Given the description of an element on the screen output the (x, y) to click on. 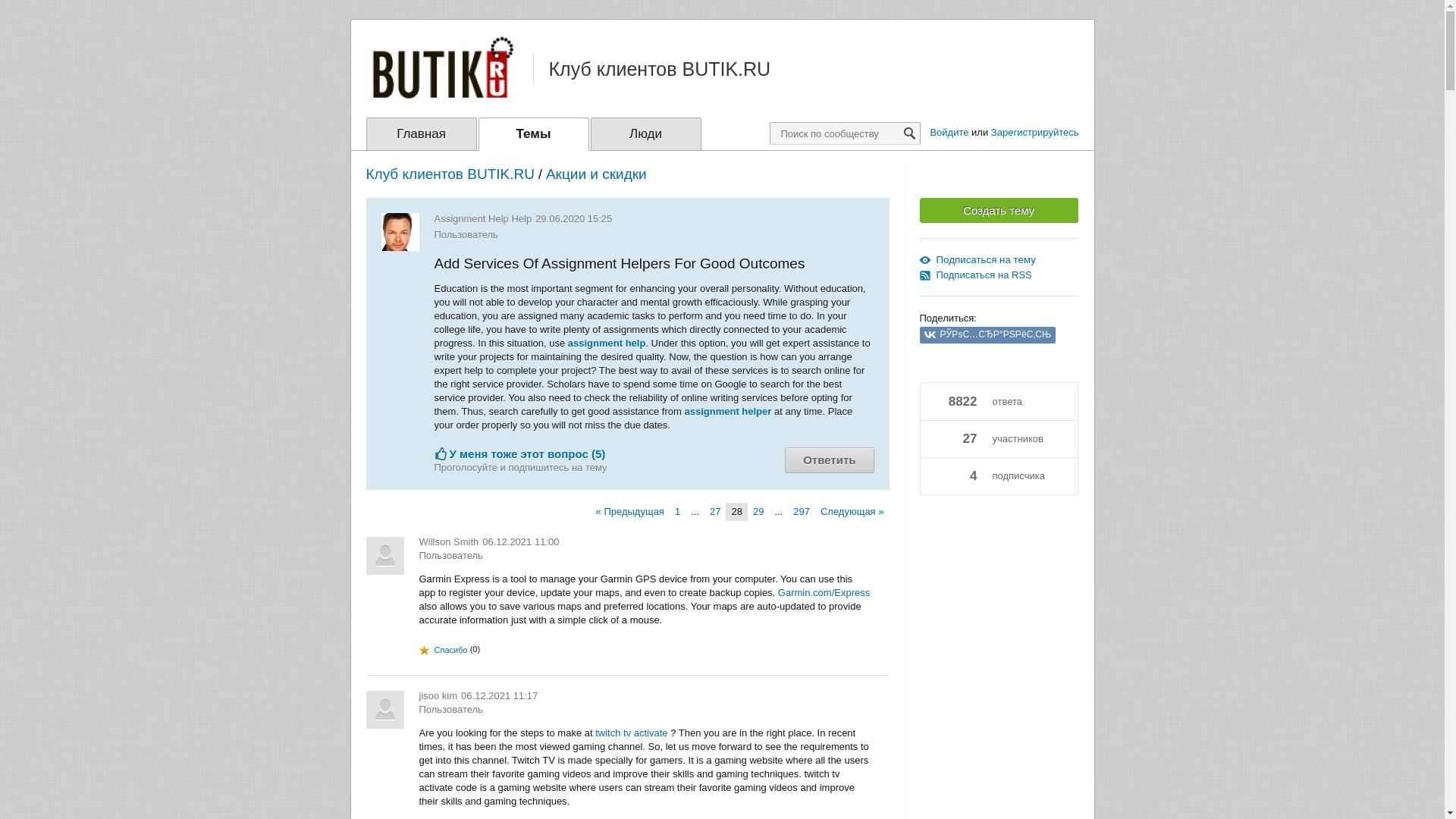
assignment help (606, 342)
Assignment Help Help (482, 218)
assignment helper (727, 410)
06.12.2021 11:00 (520, 542)
29 (757, 511)
Willson Smith (449, 542)
jisoo kim (438, 696)
297 (801, 511)
twitch tv activate (630, 732)
27 (715, 511)
